Given the description of an element on the screen output the (x, y) to click on. 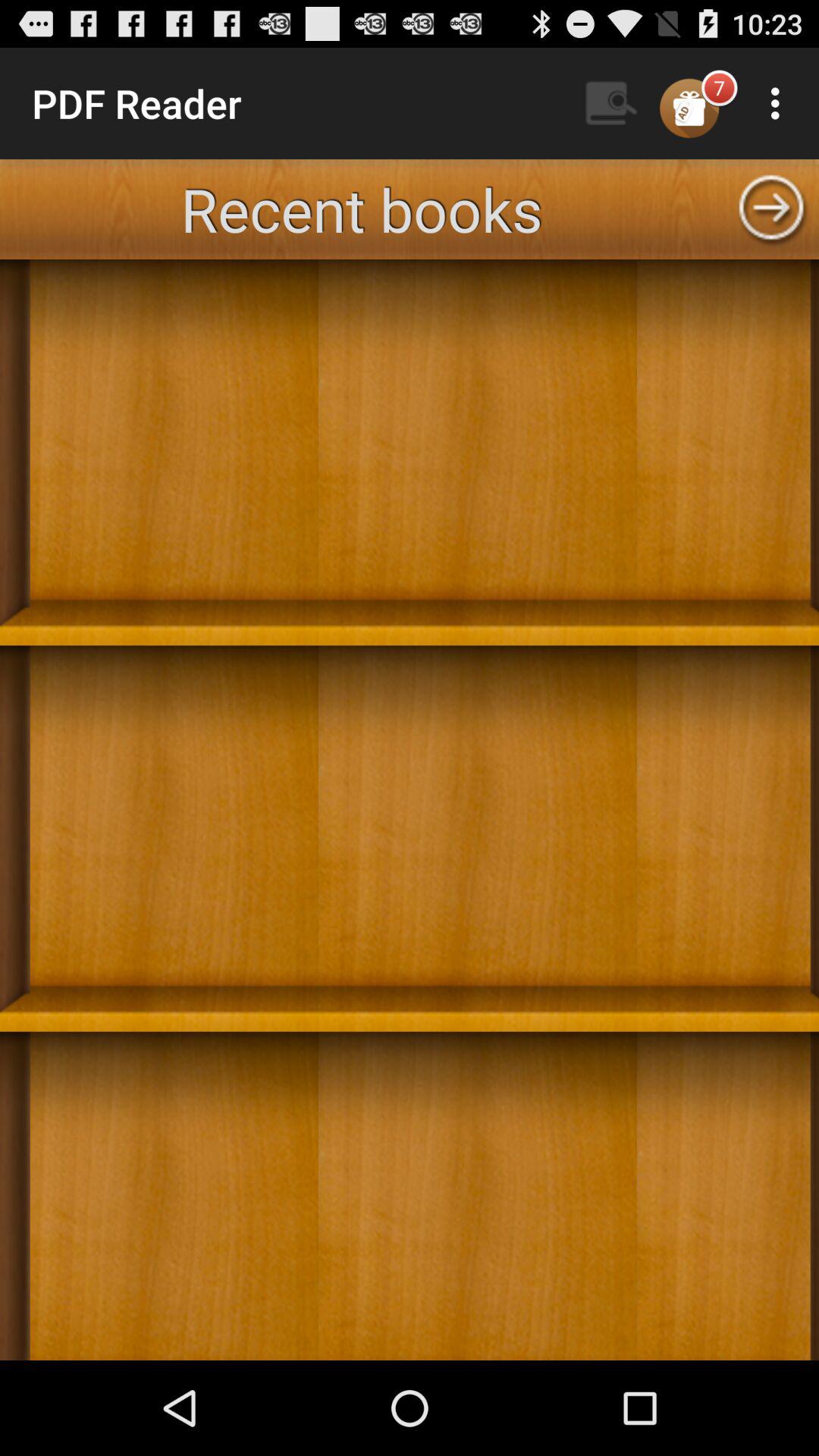
go to next (771, 209)
